Given the description of an element on the screen output the (x, y) to click on. 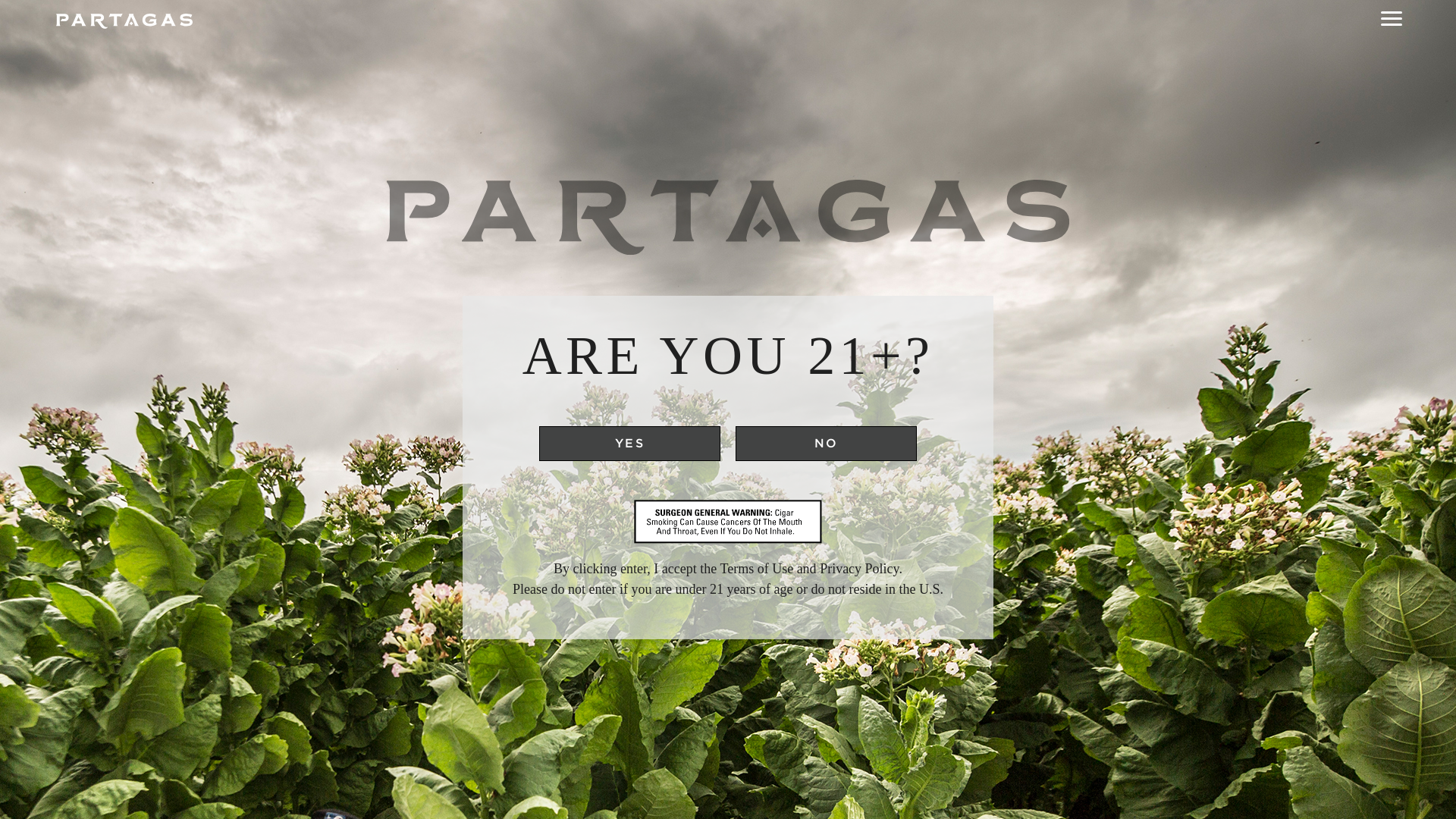
YES (629, 443)
Privacy Policy (858, 568)
Terms of Use (756, 568)
navigation menu (1391, 21)
NO (826, 443)
